Given the description of an element on the screen output the (x, y) to click on. 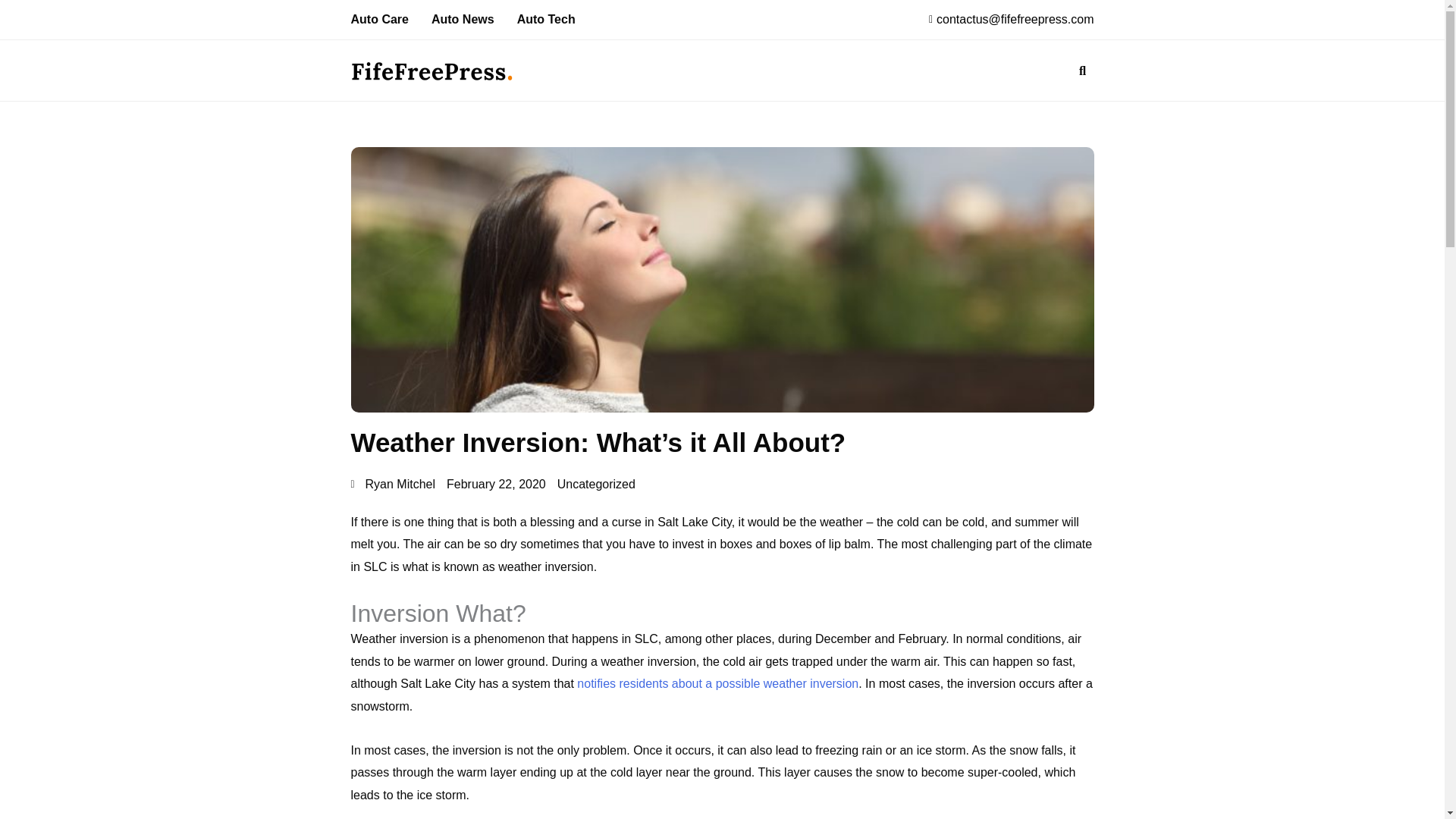
Auto Care (378, 19)
KSL.com (717, 683)
Uncategorized (595, 483)
Auto Tech (545, 19)
Auto News (462, 19)
notifies residents about a possible weather inversion (717, 683)
